Given the description of an element on the screen output the (x, y) to click on. 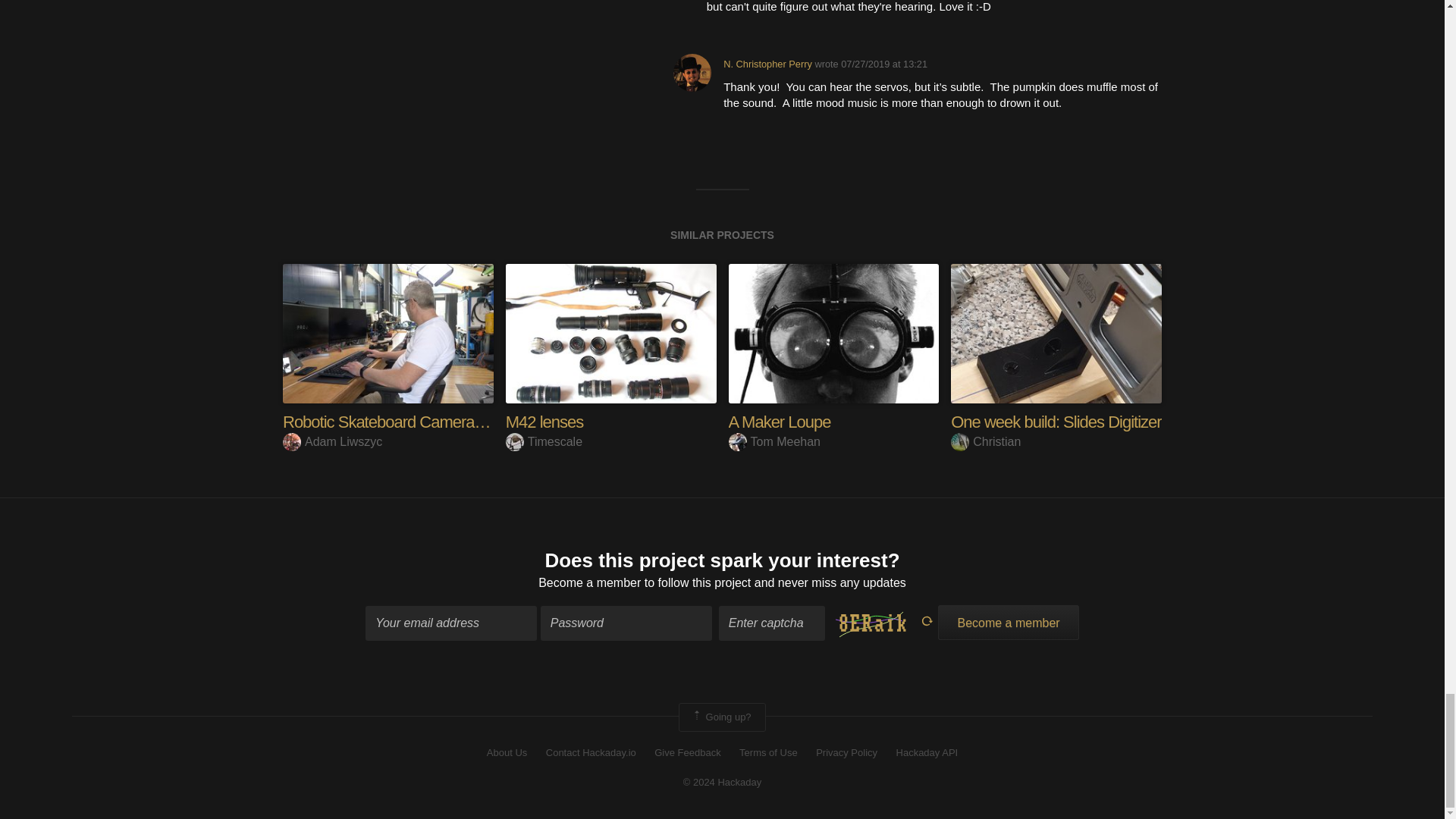
A Maker Loupe by Tom Meehan (833, 332)
5 years ago (884, 63)
M42 lenses (544, 421)
M42 lenses by Timescale (610, 332)
Robotic Skateboard Camera Dolly Rig by Adam Liwszyc (387, 332)
Robotic Skateboard Camera Dolly Rig (410, 421)
